Given the description of an element on the screen output the (x, y) to click on. 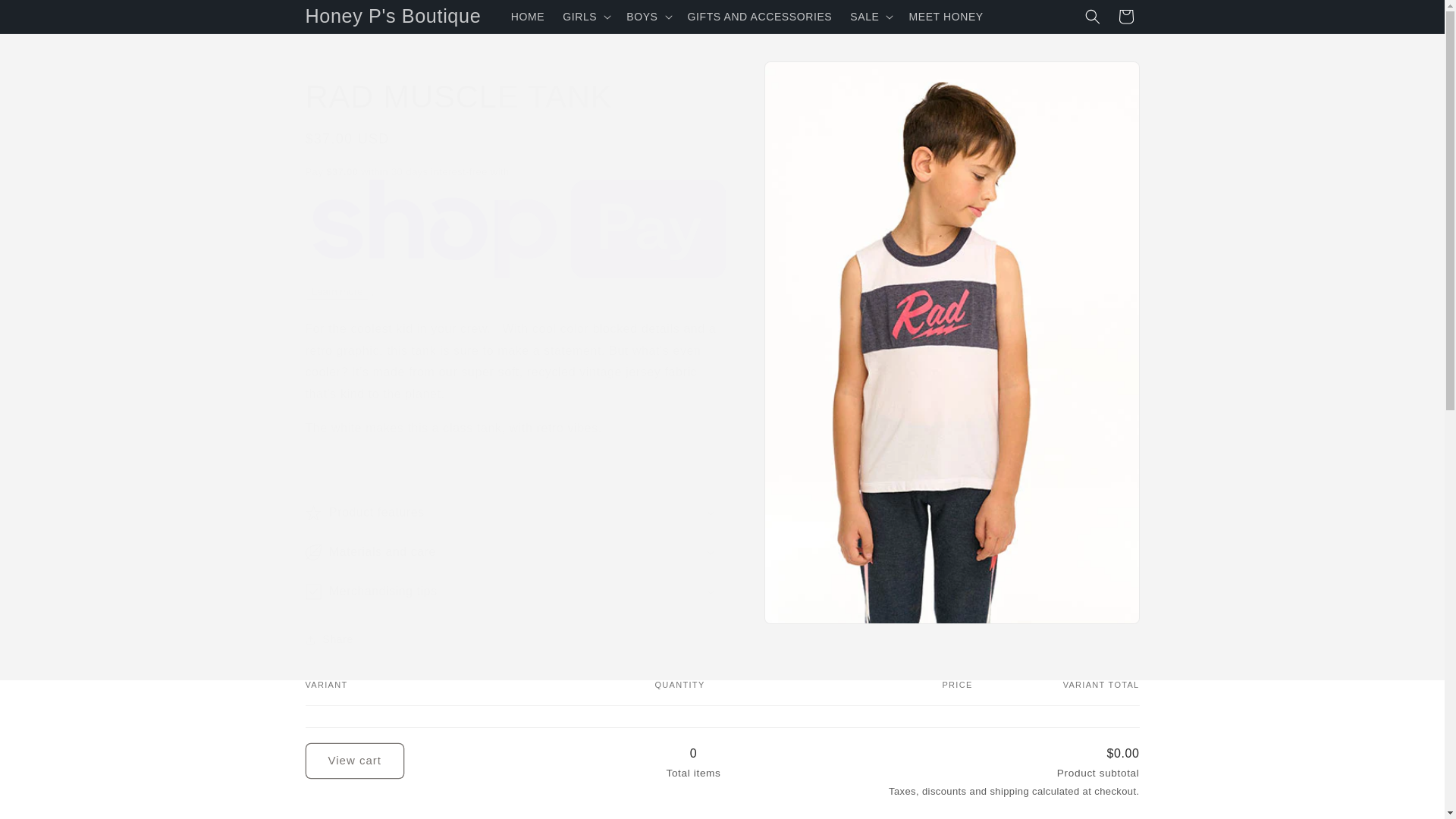
Skip to content (45, 17)
Honey P's Boutique (392, 16)
HOME (527, 16)
0 (693, 782)
